Given the description of an element on the screen output the (x, y) to click on. 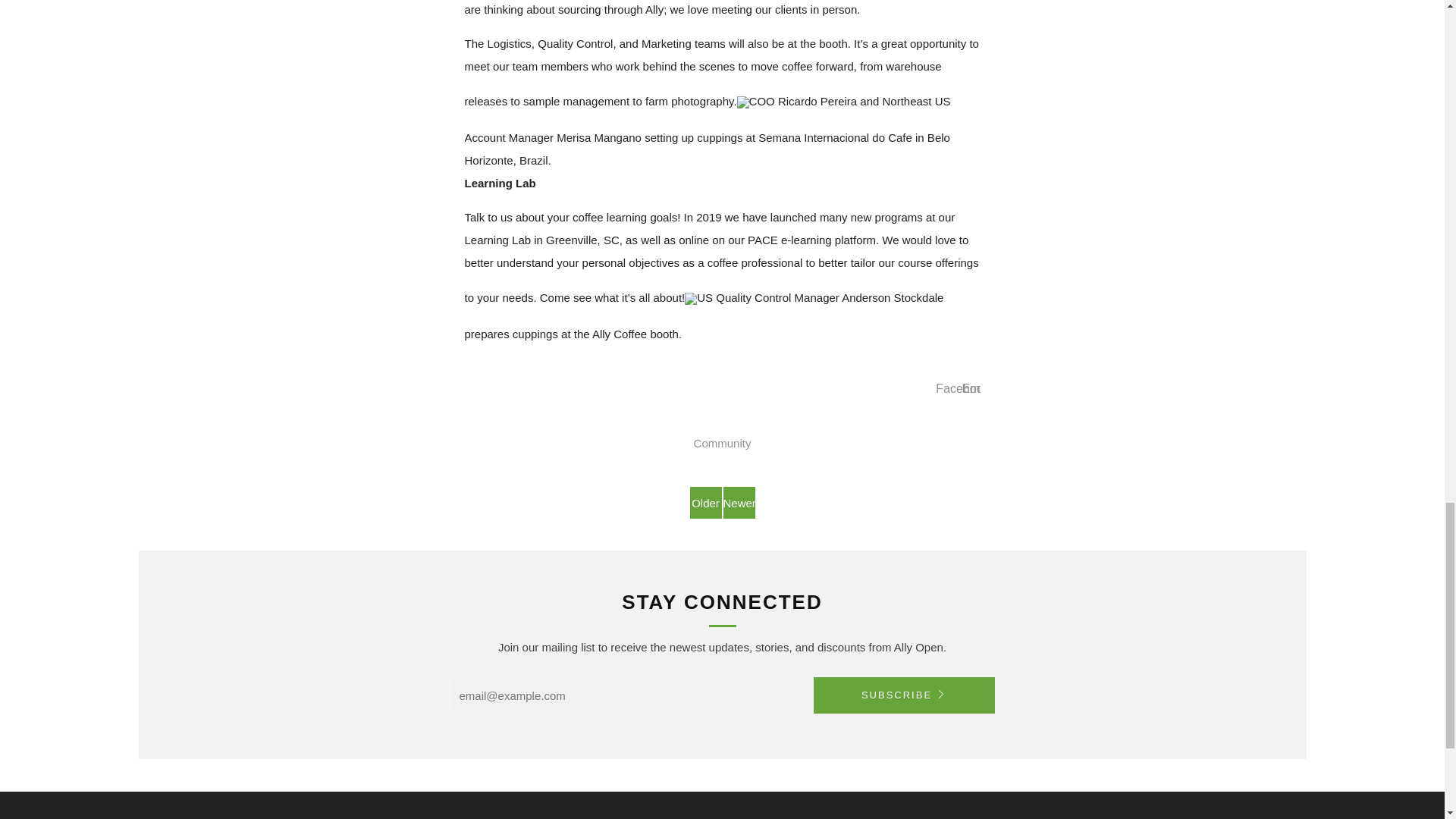
Older Post (706, 502)
Email (975, 388)
Facebook (962, 388)
Newer Post (739, 502)
SUBSCRIBE (903, 695)
Show articles tagged Community (722, 442)
Community (722, 442)
